Given the description of an element on the screen output the (x, y) to click on. 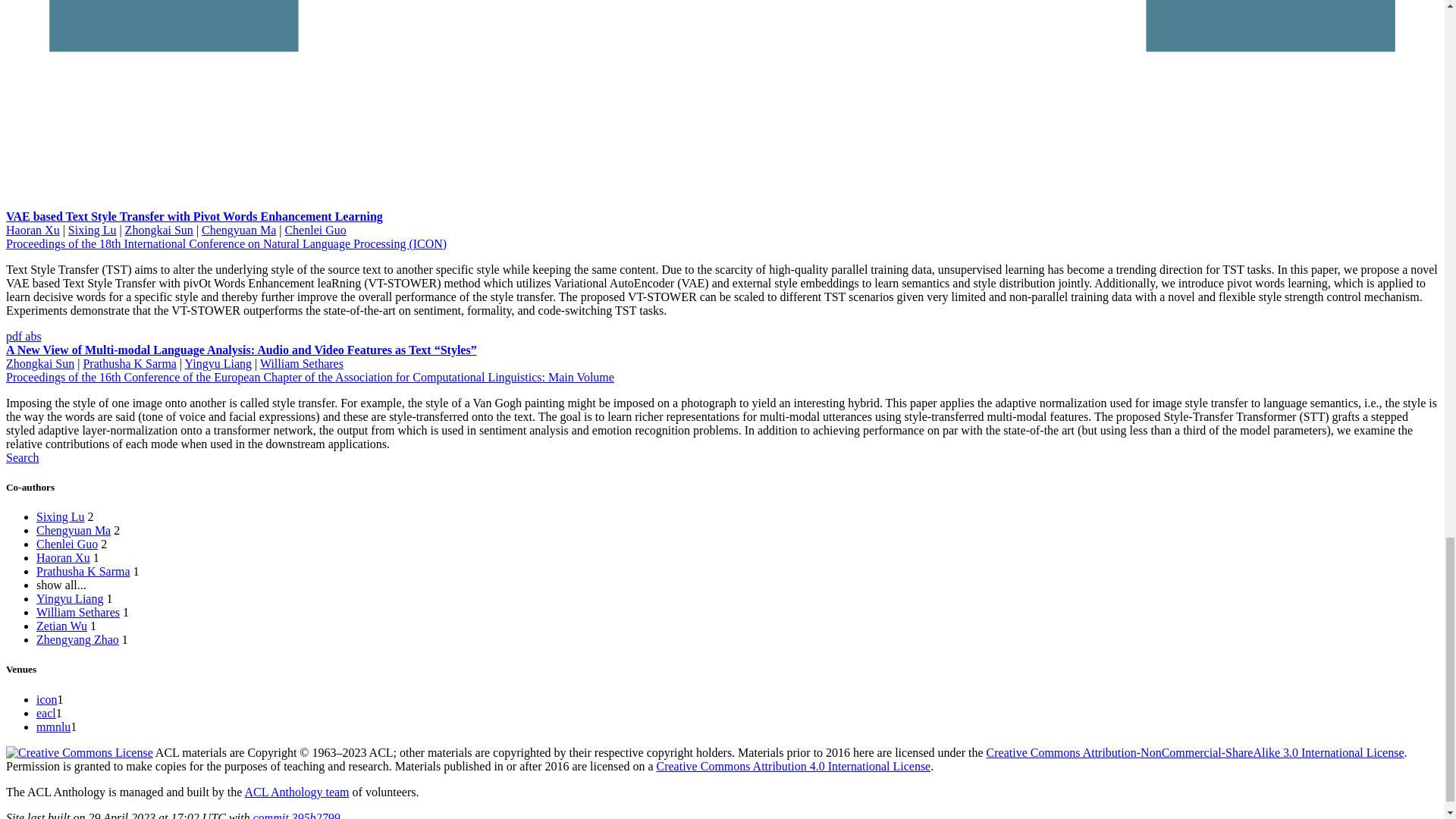
Haoran Xu (32, 229)
Chenlei Guo (66, 543)
Search for 'Zhongkai Sun' on Semantic Scholar (22, 457)
Chengyuan Ma (239, 229)
pdf (14, 336)
William Sethares (301, 363)
Chenlei Guo (314, 229)
Sixing Lu (60, 516)
abs (32, 336)
Zhongkai Sun (159, 229)
Chengyuan Ma (73, 530)
Show Abstract (32, 336)
Haoran Xu (63, 557)
